Given the description of an element on the screen output the (x, y) to click on. 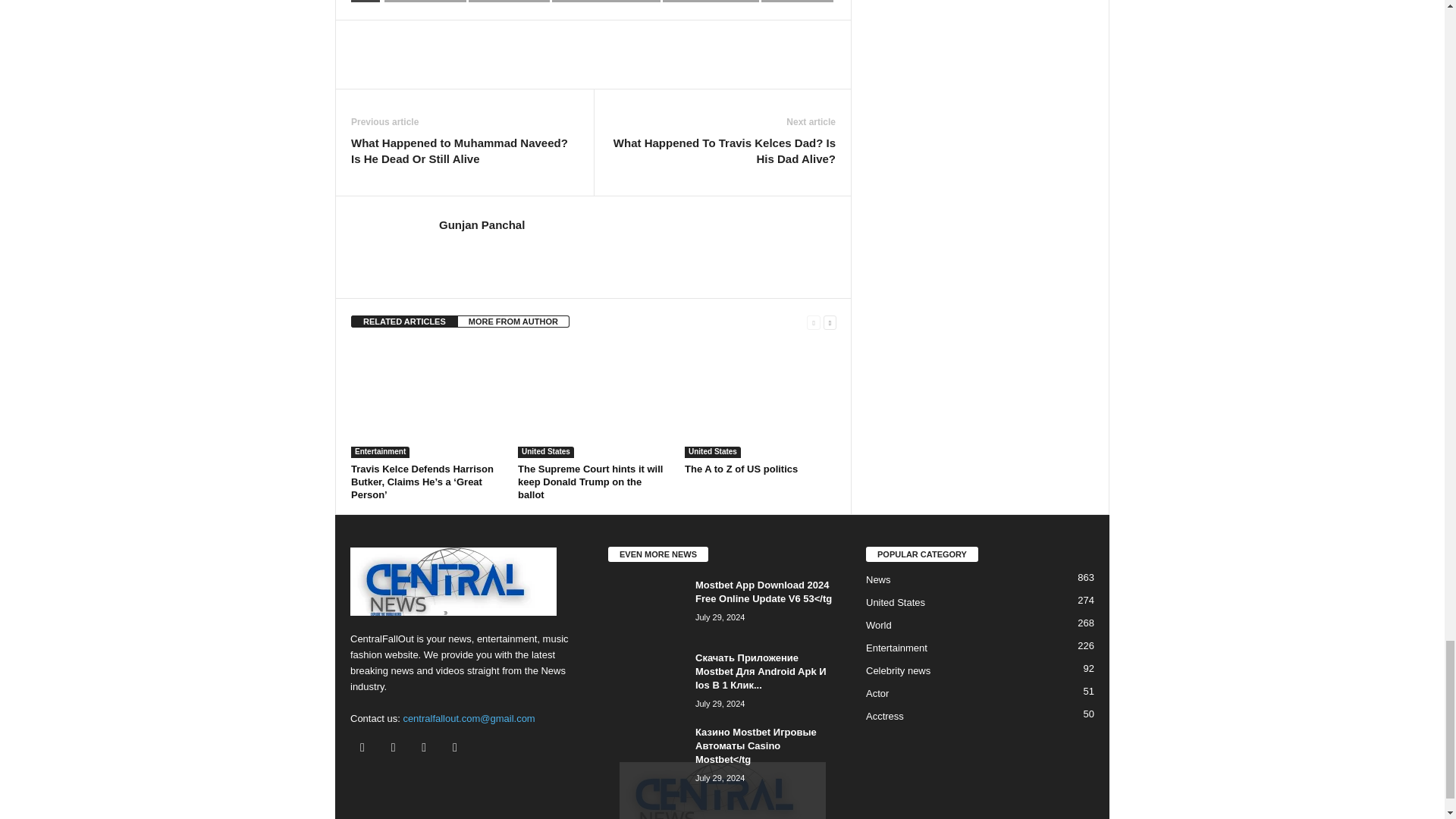
bottomFacebookLike (390, 35)
